Given the description of an element on the screen output the (x, y) to click on. 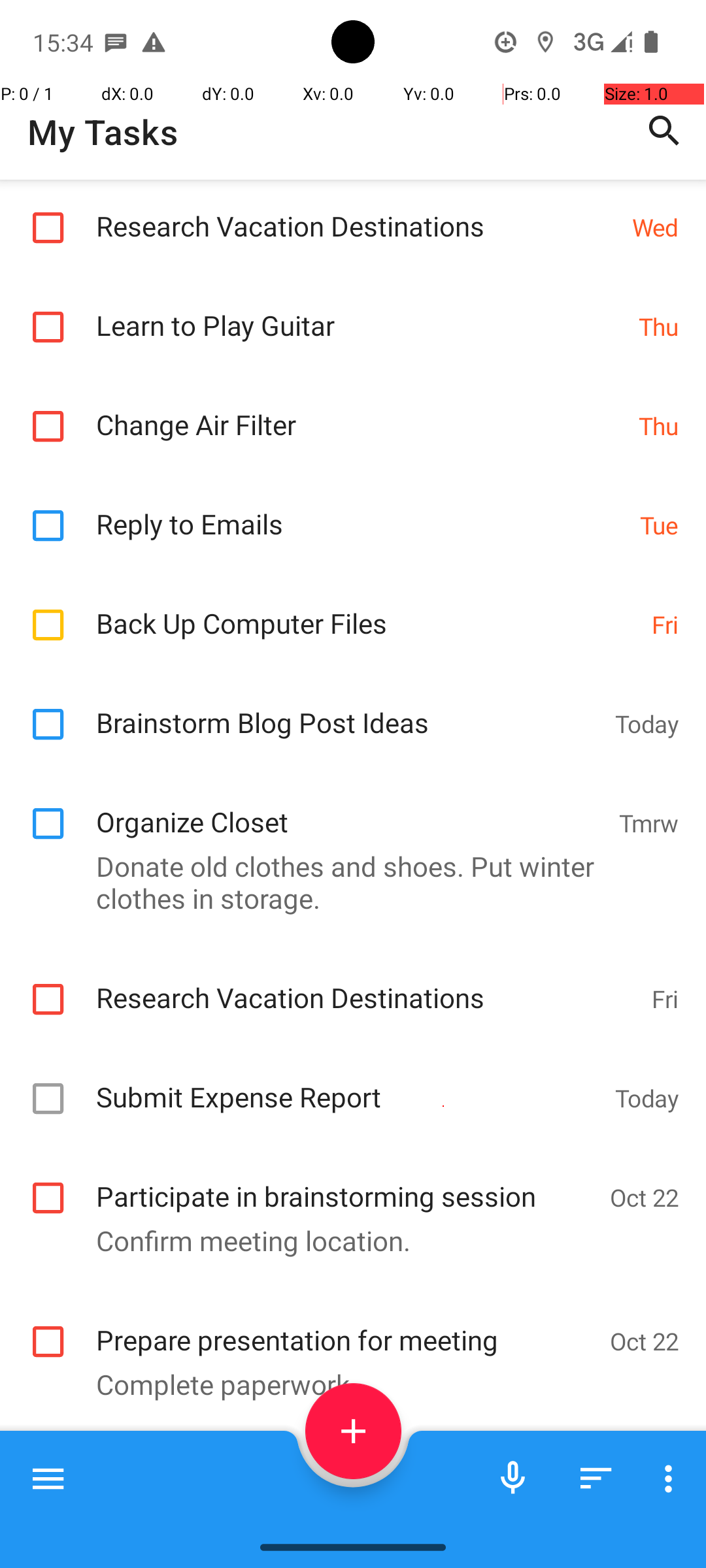
Sort Element type: android.widget.Button (595, 1478)
Research Vacation Destinations Element type: android.widget.TextView (357, 211)
Wed Element type: android.widget.TextView (655, 226)
Learn to Play Guitar Element type: android.widget.TextView (360, 310)
Thu Element type: android.widget.TextView (658, 325)
Change Air Filter Element type: android.widget.TextView (360, 410)
Reply to Emails Element type: android.widget.TextView (361, 509)
Tue Element type: android.widget.TextView (659, 524)
Back Up Computer Files Element type: android.widget.TextView (367, 608)
Fri Element type: android.widget.TextView (665, 623)
Brainstorm Blog Post Ideas Element type: android.widget.TextView (348, 708)
Organize Closet Element type: android.widget.TextView (350, 807)
Donate old clothes and shoes. Put winter clothes in storage. Element type: android.widget.TextView (346, 881)
Tmrw Element type: android.widget.TextView (648, 822)
Submit Expense Report Element type: android.widget.TextView (348, 1082)
Participate in brainstorming session Element type: android.widget.TextView (346, 1181)
Confirm meeting location. Element type: android.widget.TextView (346, 1239)
Oct 22 Element type: android.widget.TextView (644, 1196)
Prepare presentation for meeting Element type: android.widget.TextView (346, 1325)
Complete paperwork. Element type: android.widget.TextView (346, 1383)
Water Plants Element type: android.widget.TextView (350, 1469)
Check moisture level before watering. Fertilize succulents. Element type: android.widget.TextView (346, 1517)
